Given the description of an element on the screen output the (x, y) to click on. 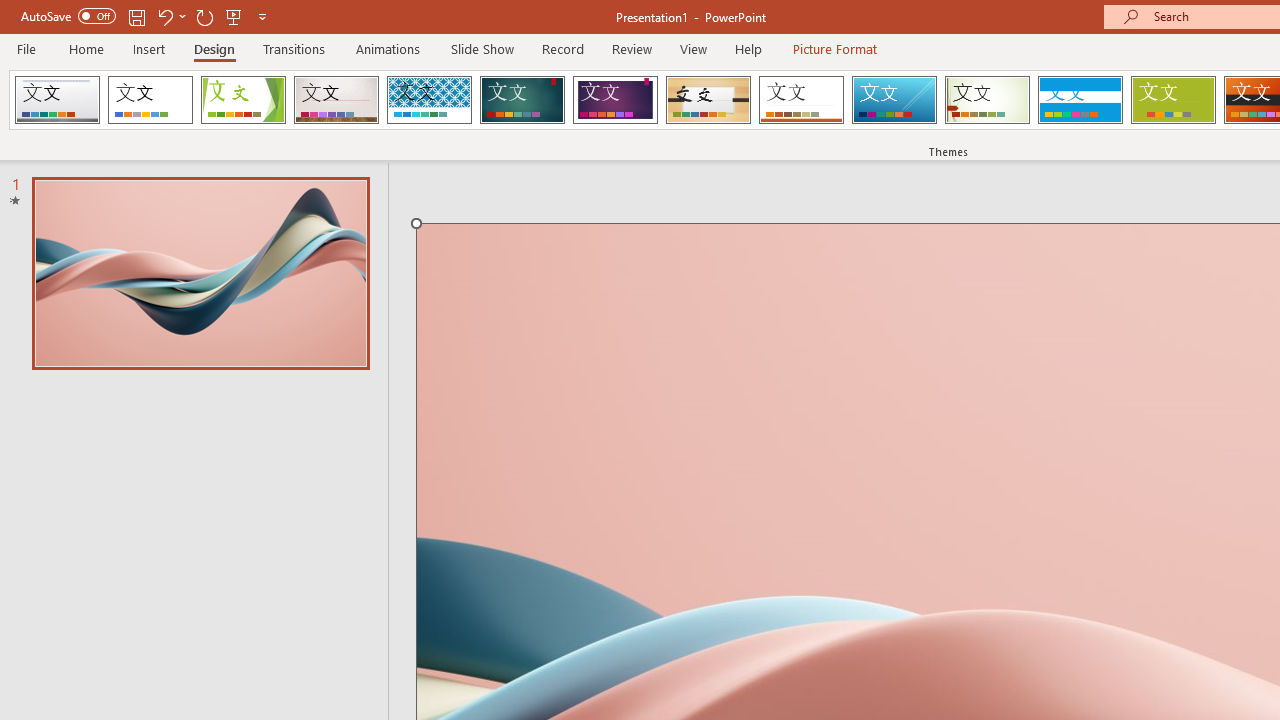
Wisp (987, 100)
Retrospect (801, 100)
Banded (1080, 100)
Ion Boardroom (615, 100)
